Given the description of an element on the screen output the (x, y) to click on. 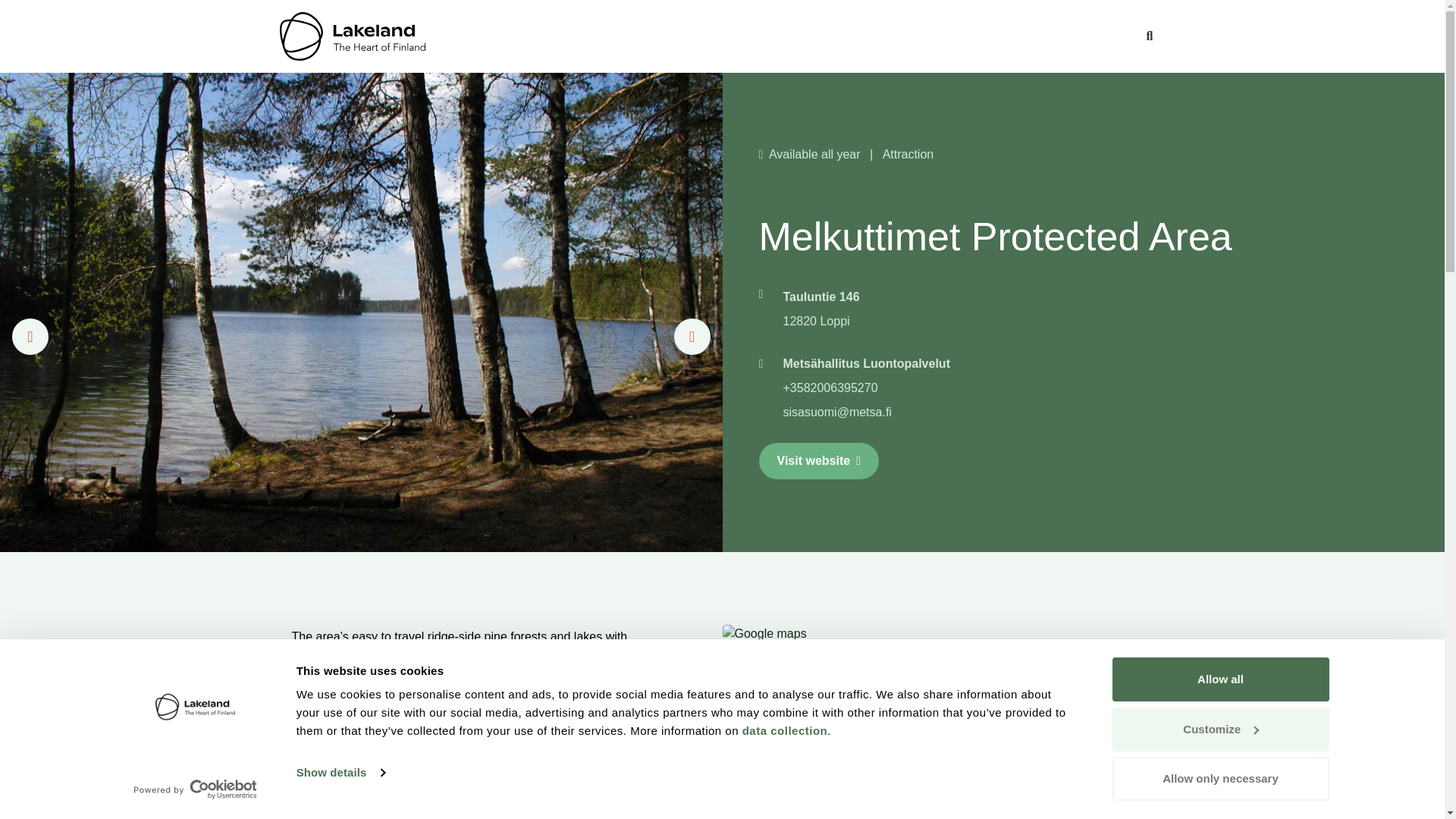
data collection (785, 730)
Customize (1219, 728)
Allow all (1219, 679)
Show details (340, 772)
Allow only necessary (1219, 778)
